Given the description of an element on the screen output the (x, y) to click on. 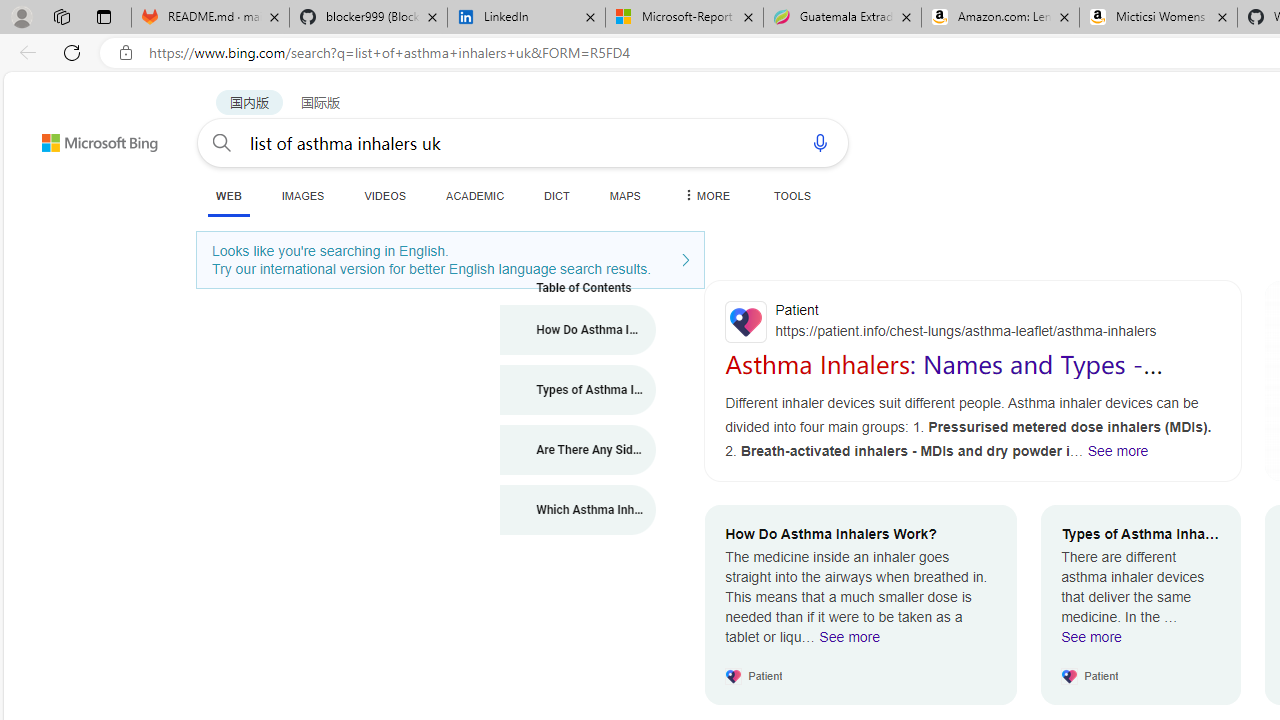
IMAGES (302, 195)
Search button (221, 142)
DICT (557, 195)
TOOLS (792, 195)
Types of Asthma Inhalers (578, 389)
Back to Bing search (87, 138)
WEB (228, 195)
LinkedIn (526, 17)
Patient (973, 321)
